Given the description of an element on the screen output the (x, y) to click on. 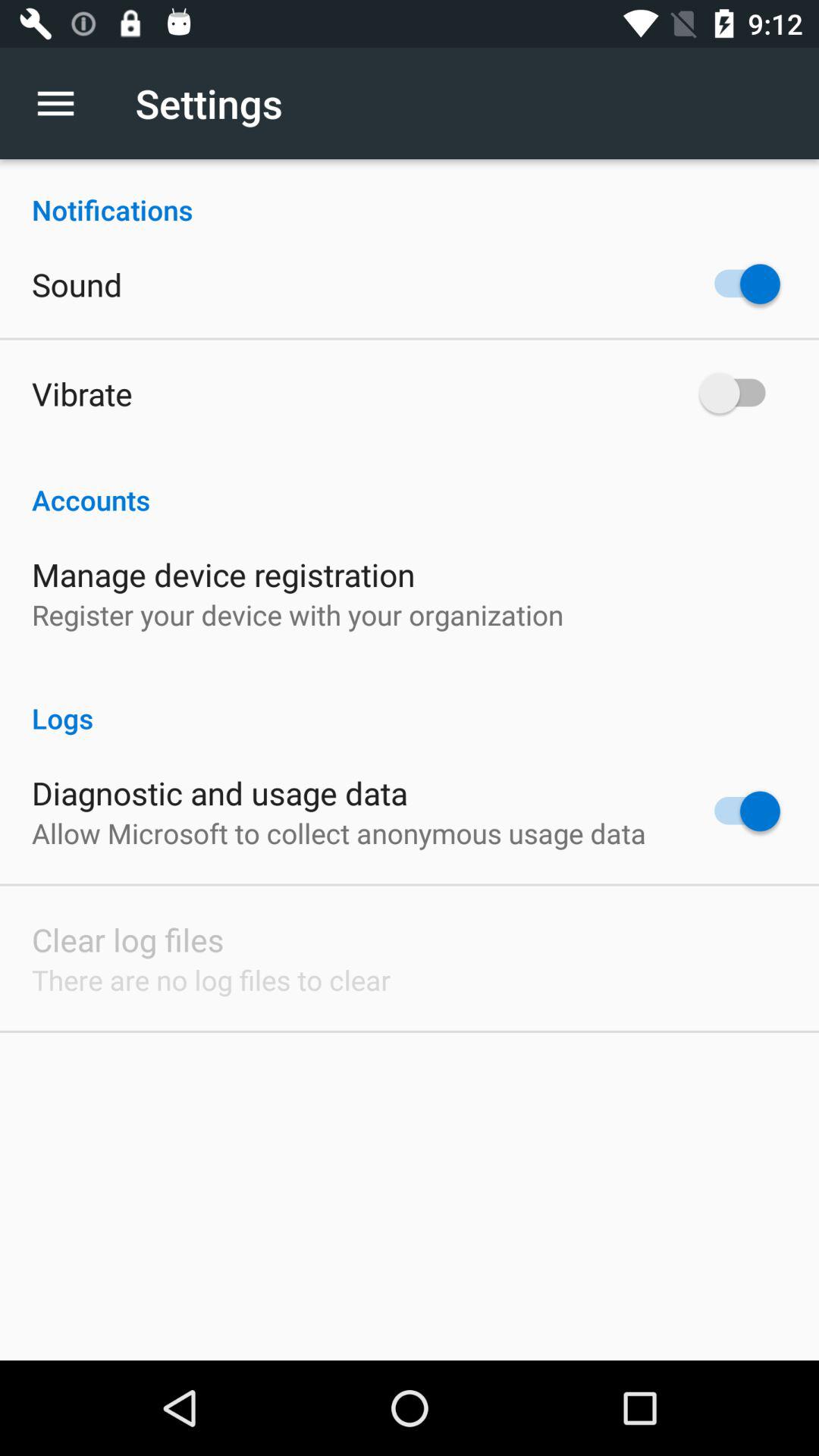
click icon next to the settings icon (63, 103)
